Given the description of an element on the screen output the (x, y) to click on. 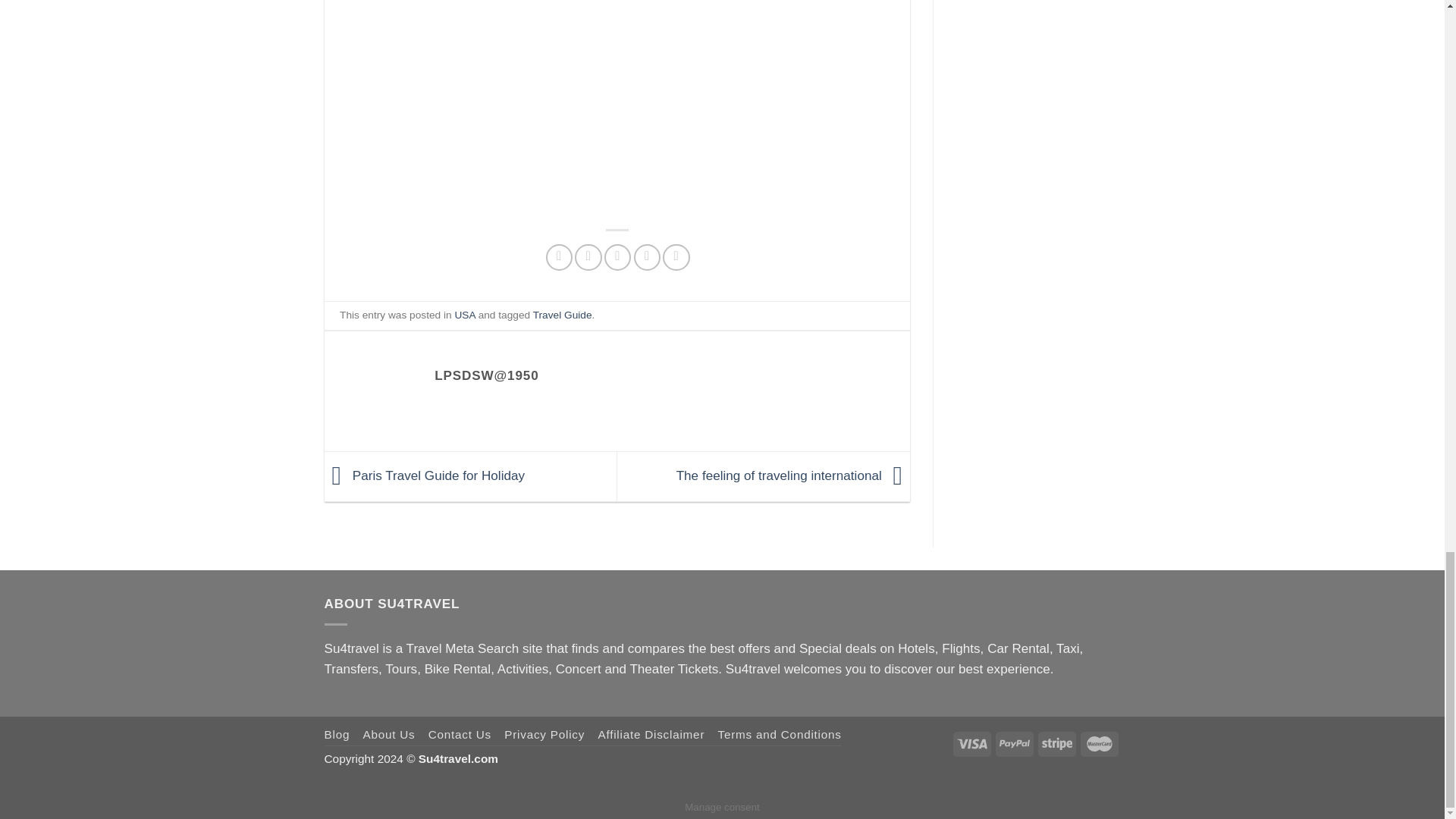
Share on Twitter (588, 257)
Share on Facebook (559, 257)
Share on LinkedIn (675, 257)
Email to a Friend (617, 257)
USA (464, 315)
Pin on Pinterest (647, 257)
